Given the description of an element on the screen output the (x, y) to click on. 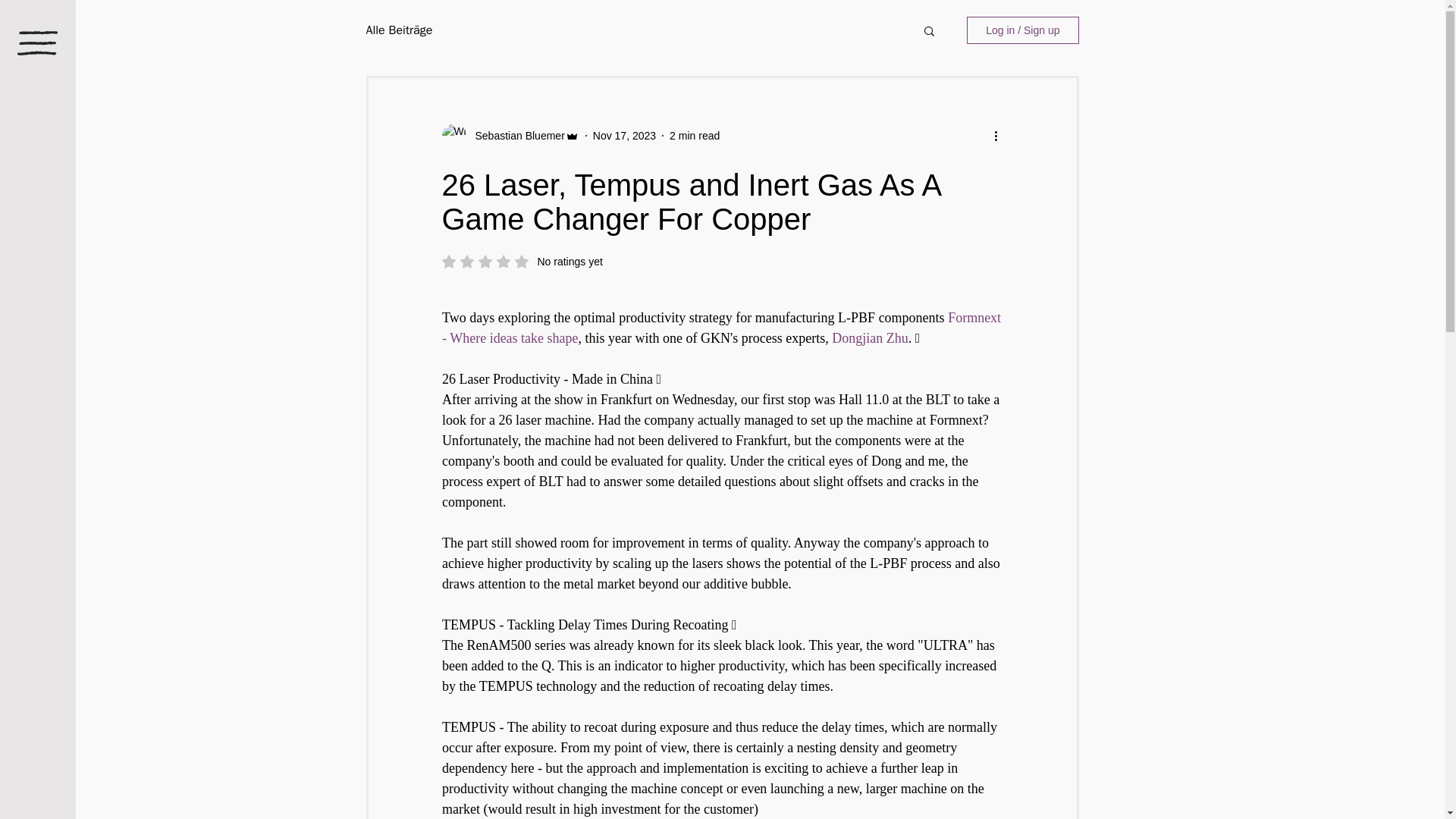
Dongjian Zhu (869, 337)
Formnext - Where ideas take shape (722, 327)
Nov 17, 2023 (624, 134)
2 min read (521, 261)
Sebastian Bluemer (694, 134)
